Given the description of an element on the screen output the (x, y) to click on. 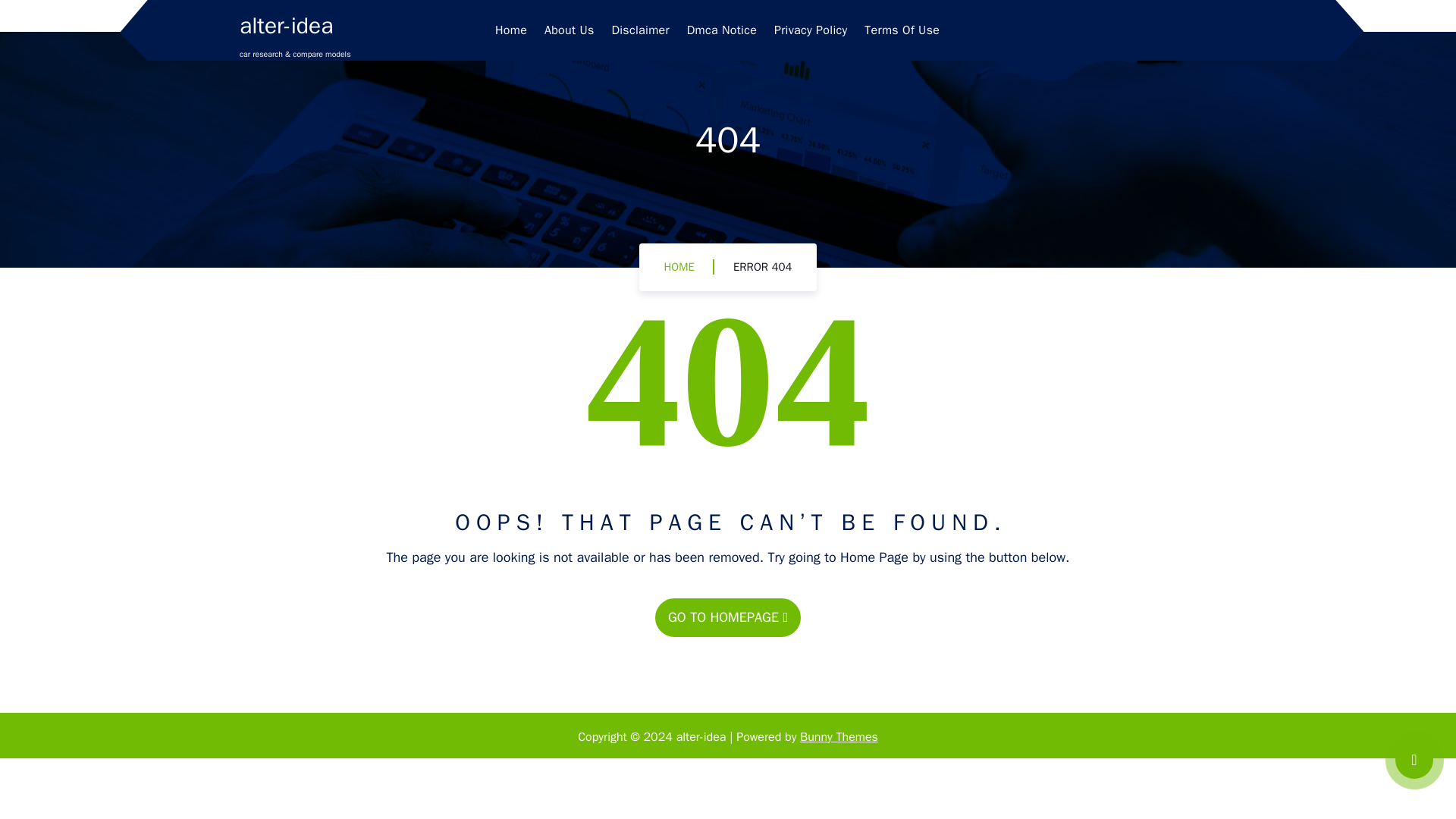
About Us (569, 30)
Dmca Notice (722, 30)
Disclaimer (639, 30)
Terms Of Use (901, 30)
HOME (678, 266)
alter-idea (286, 25)
Dmca Notice (722, 30)
About Us (569, 30)
Bunny Themes (838, 736)
Privacy Policy (810, 30)
Home (511, 30)
GO TO HOMEPAGE (727, 616)
Disclaimer (639, 30)
Privacy Policy (810, 30)
ERROR 404 (762, 266)
